Given the description of an element on the screen output the (x, y) to click on. 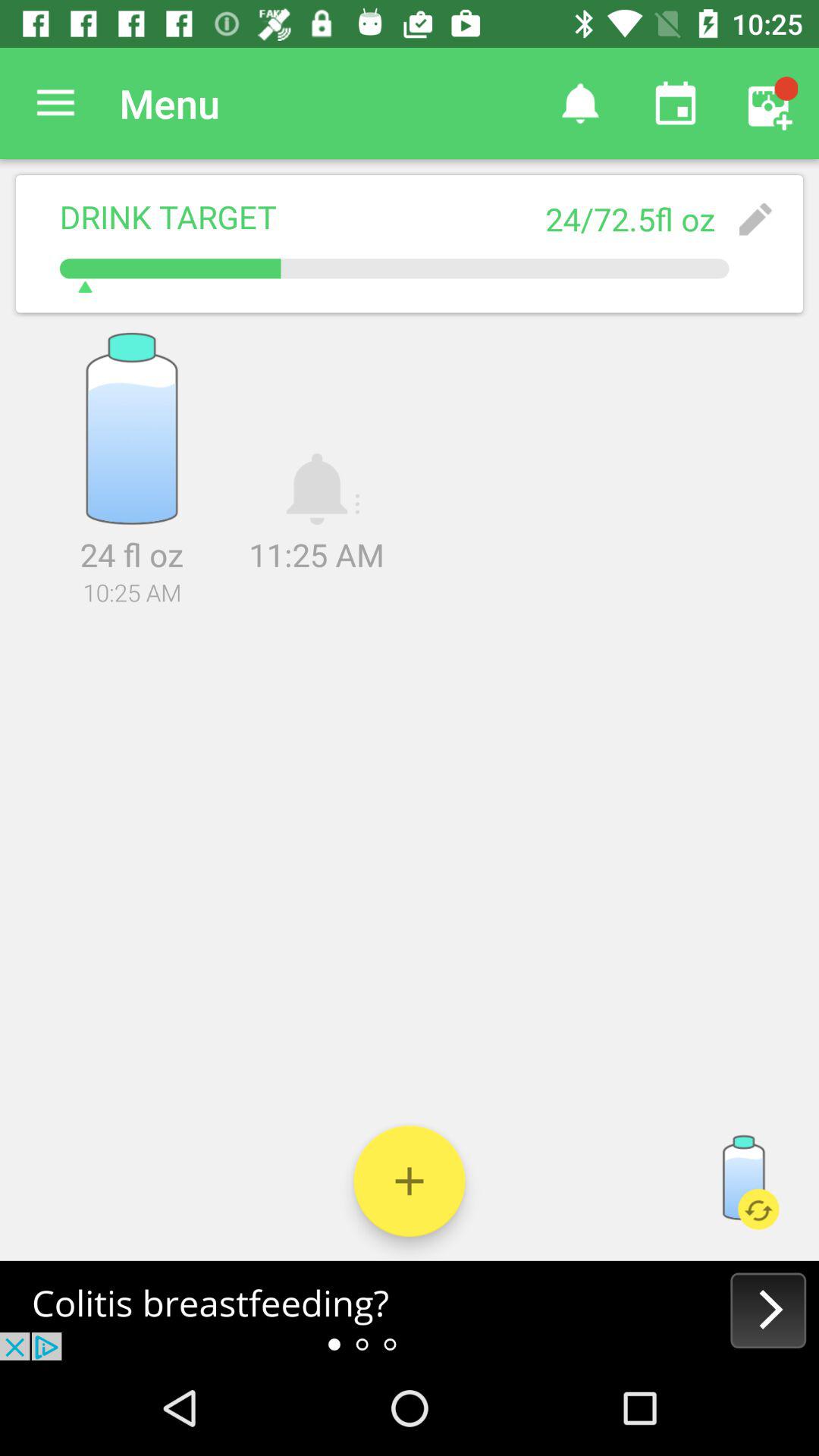
add drink target (409, 1181)
